Given the description of an element on the screen output the (x, y) to click on. 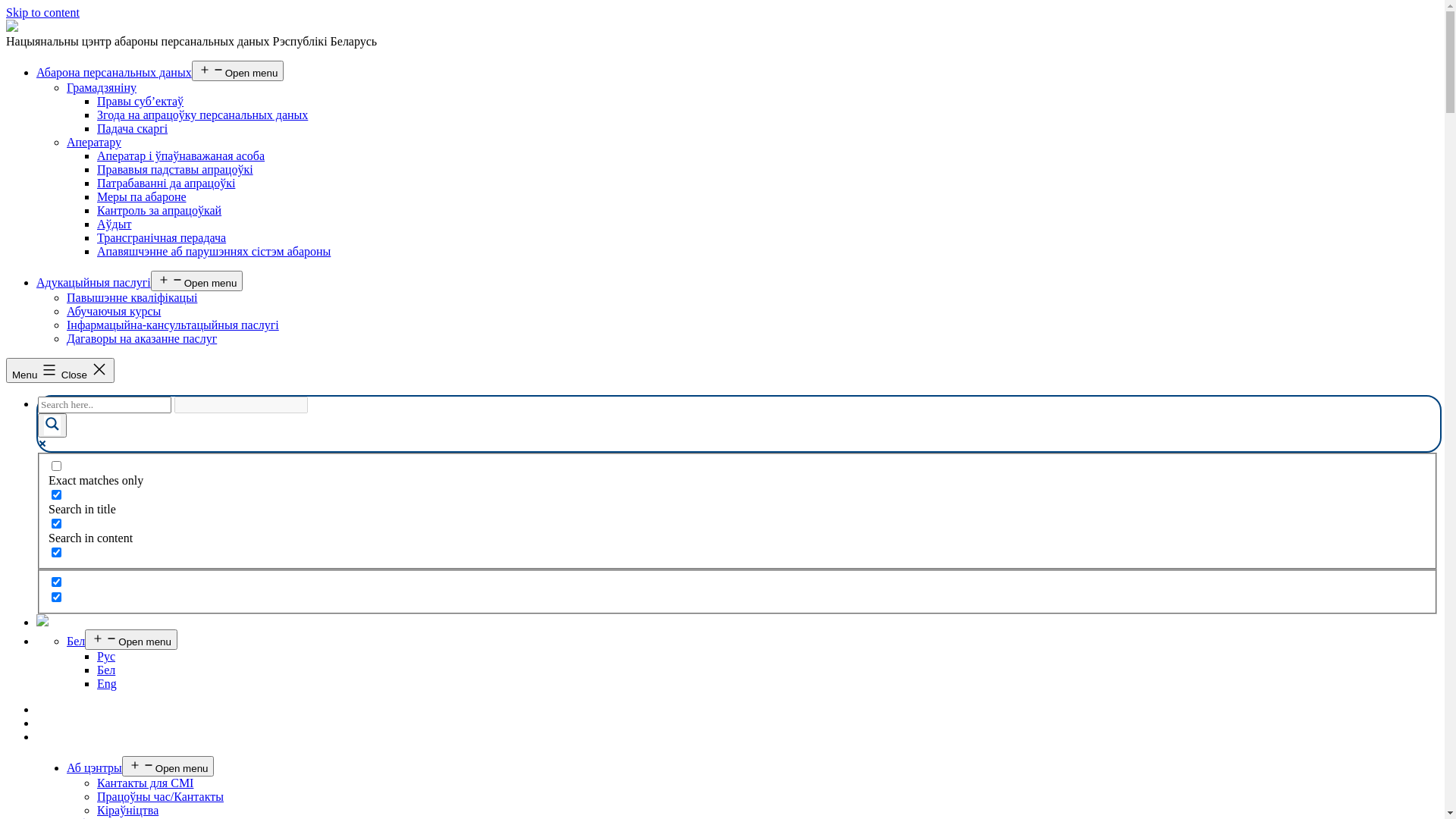
Start search Element type: text (316, 398)
Open menu Element type: text (130, 639)
Eng Element type: text (106, 683)
Open menu Element type: text (237, 70)
Menu Close Element type: text (60, 369)
Open menu Element type: text (196, 280)
Open menu Element type: text (168, 766)
Skip to content Element type: text (42, 12)
